Given the description of an element on the screen output the (x, y) to click on. 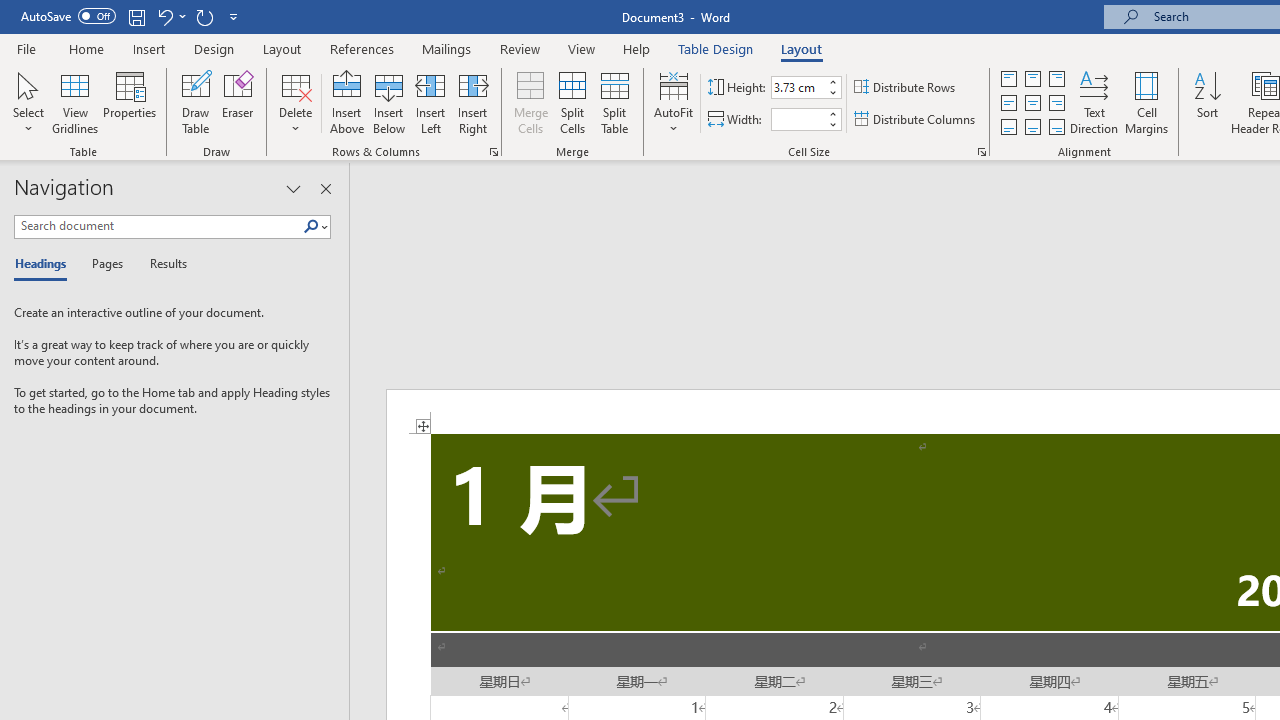
Cell Margins... (1146, 102)
Text Direction (1094, 102)
Insert Left (430, 102)
Align Top Justified (1009, 78)
Undo Increase Indent (170, 15)
Insert Cells... (493, 151)
